Given the description of an element on the screen output the (x, y) to click on. 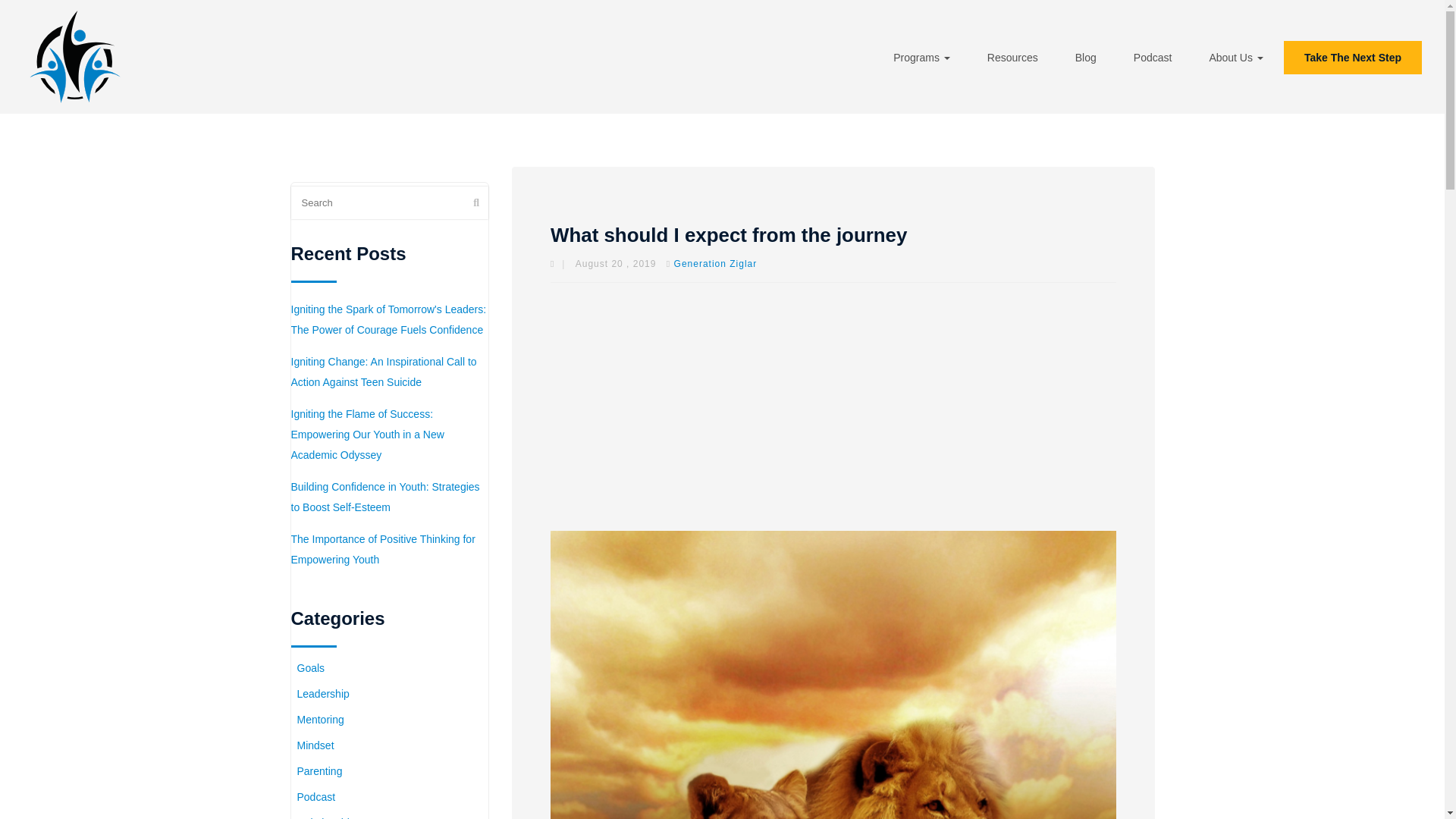
Podcast (1152, 57)
Programs (921, 57)
Blog (1085, 57)
About Us (1235, 57)
Posts by Generation Ziglar (715, 263)
Resources (1012, 57)
Take The Next Step (1353, 57)
